Given the description of an element on the screen output the (x, y) to click on. 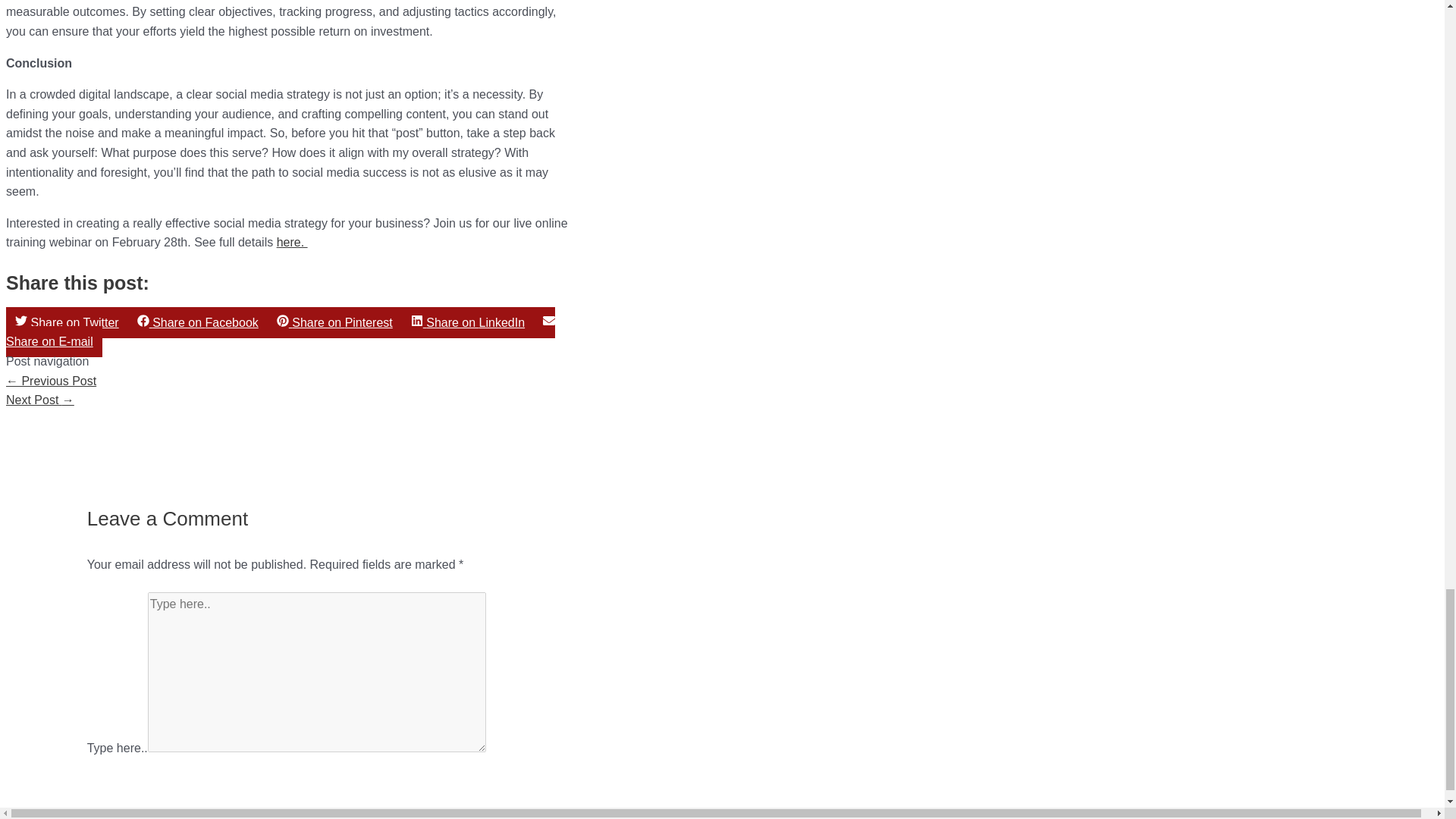
Share on Twitter (66, 322)
Share on Facebook (197, 322)
here.  (291, 241)
